Given the description of an element on the screen output the (x, y) to click on. 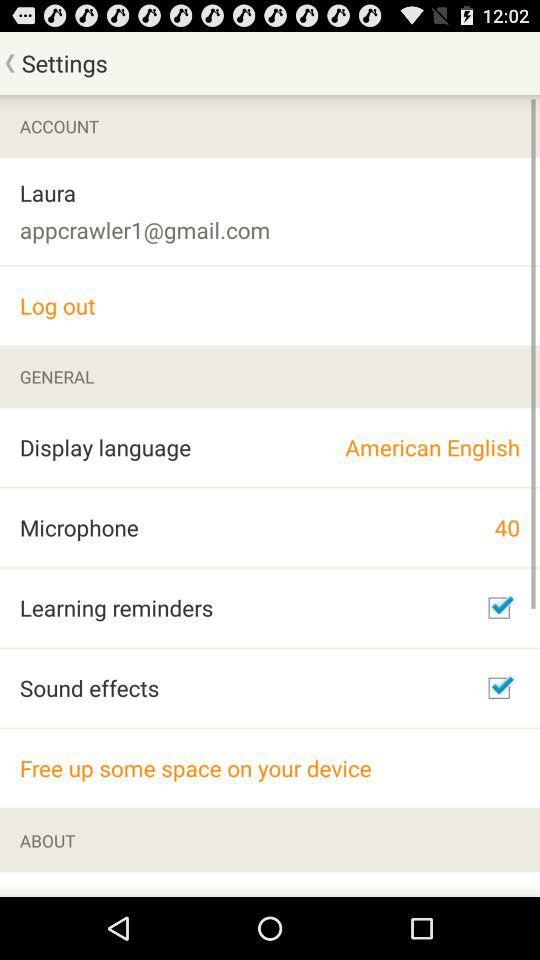
turn on the log out icon (270, 305)
